Given the description of an element on the screen output the (x, y) to click on. 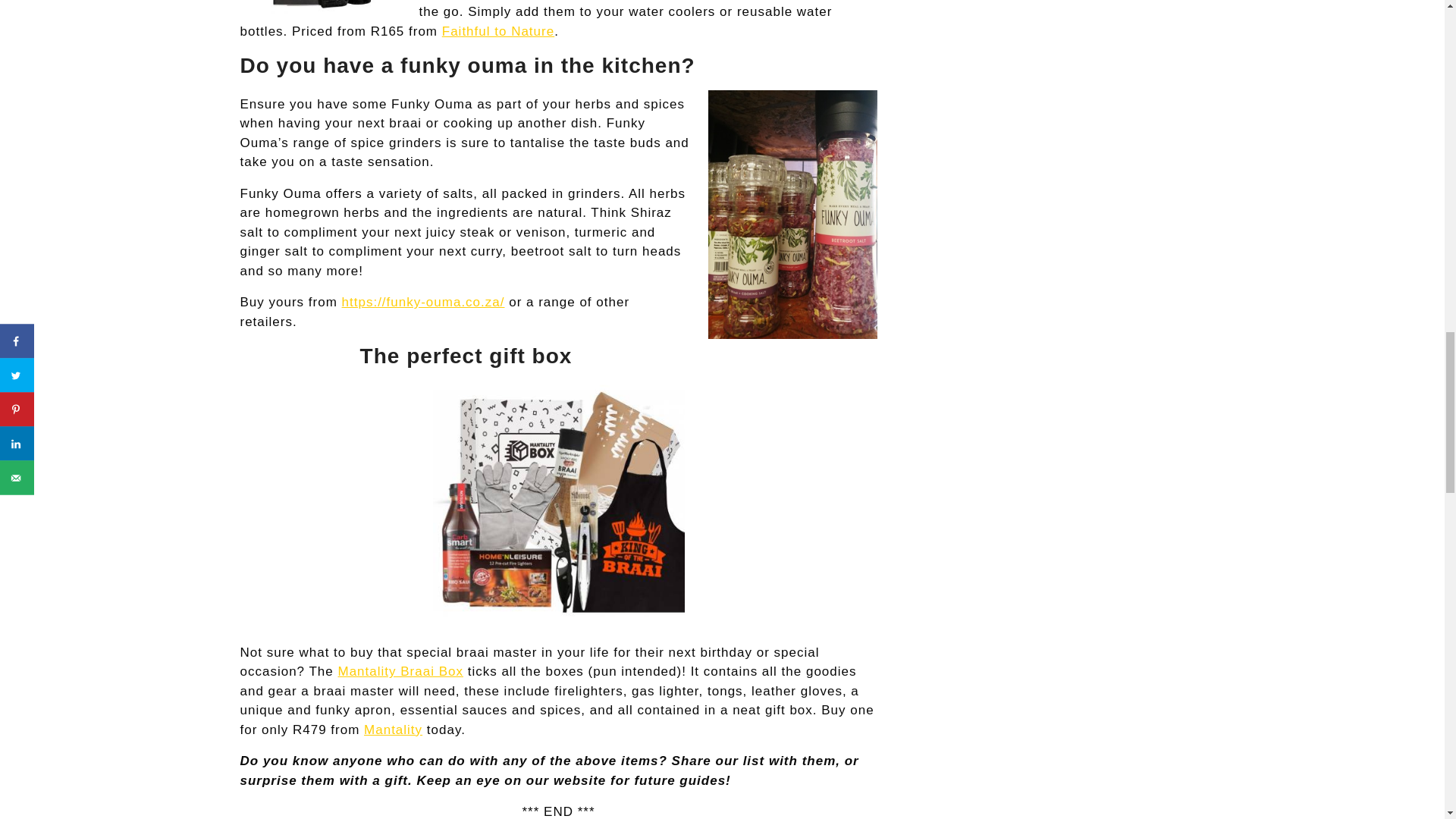
Mantality (393, 729)
Faithful to Nature (498, 31)
Mantality Braai Box (400, 671)
